Given the description of an element on the screen output the (x, y) to click on. 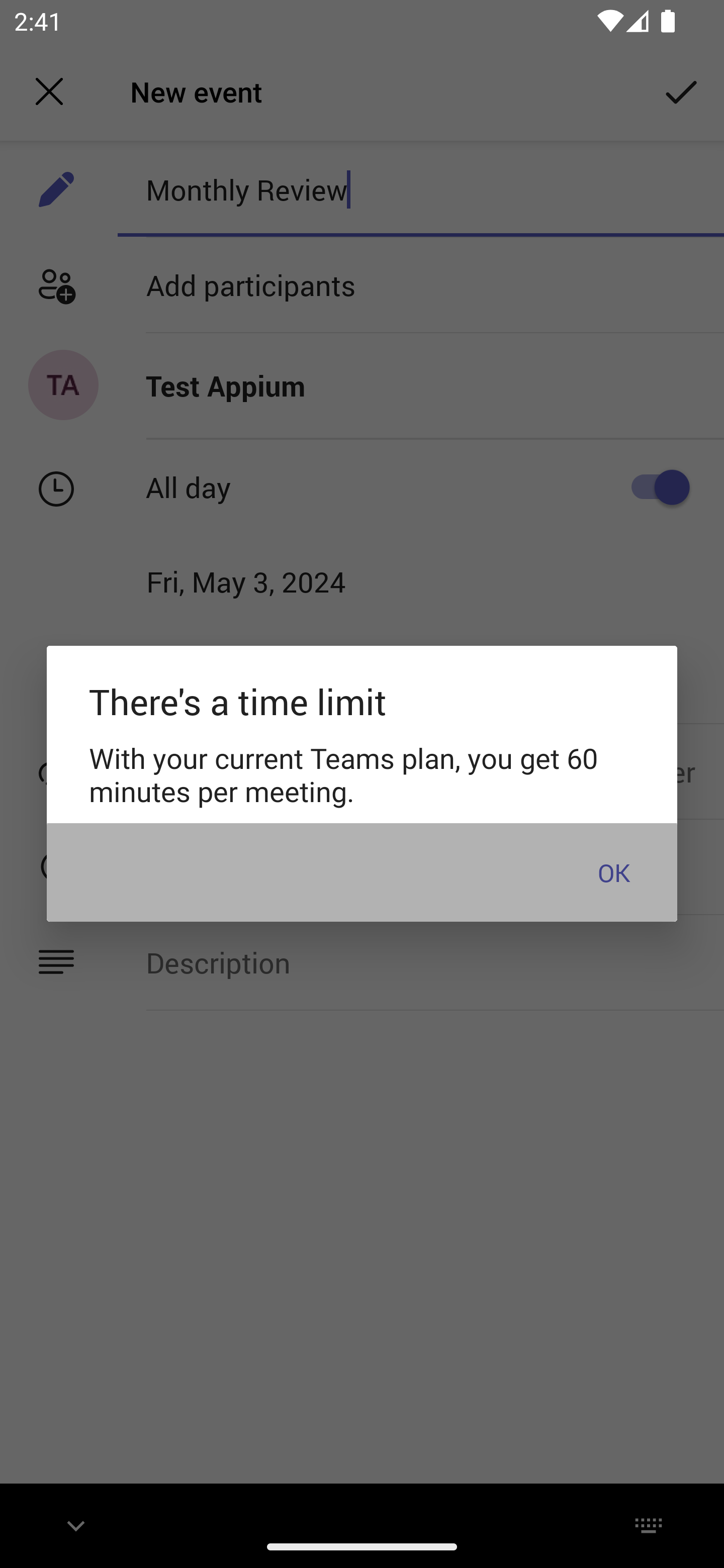
OK (613, 871)
